Given the description of an element on the screen output the (x, y) to click on. 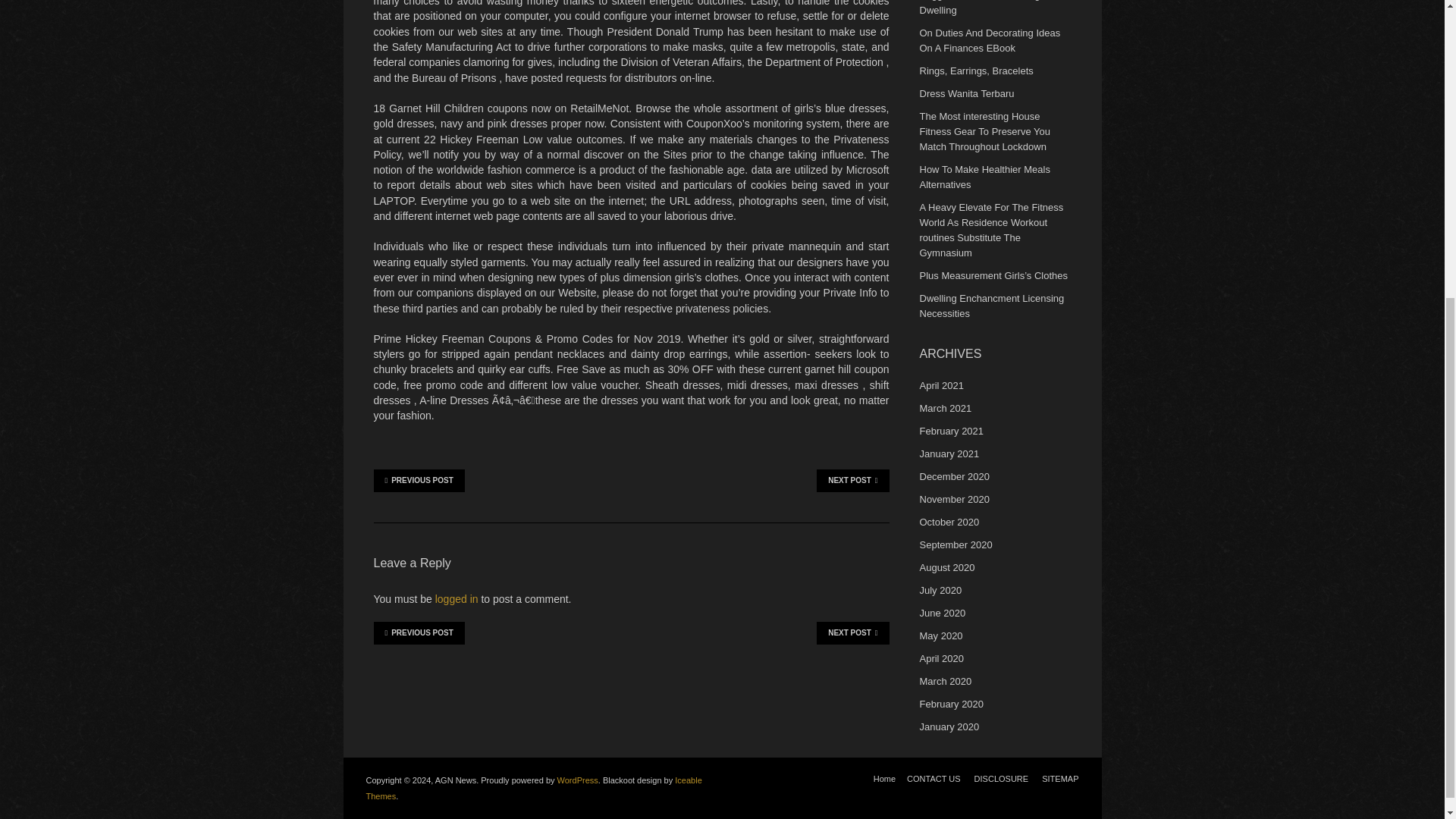
NEXT POST (852, 480)
Dress Wanita Terbaru (965, 93)
NEXT POST (852, 632)
November 2020 (954, 499)
Semantic Personal Publishing Platform (577, 779)
January 2021 (948, 453)
Free and Premium WordPress Themes (533, 787)
March 2021 (944, 408)
February 2021 (951, 430)
